Given the description of an element on the screen output the (x, y) to click on. 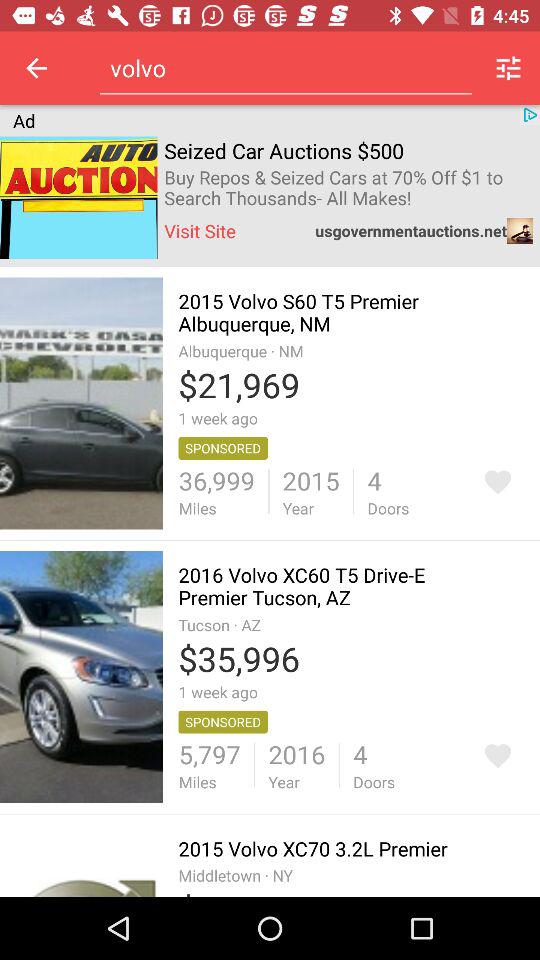
turn on item above the ad (36, 68)
